Given the description of an element on the screen output the (x, y) to click on. 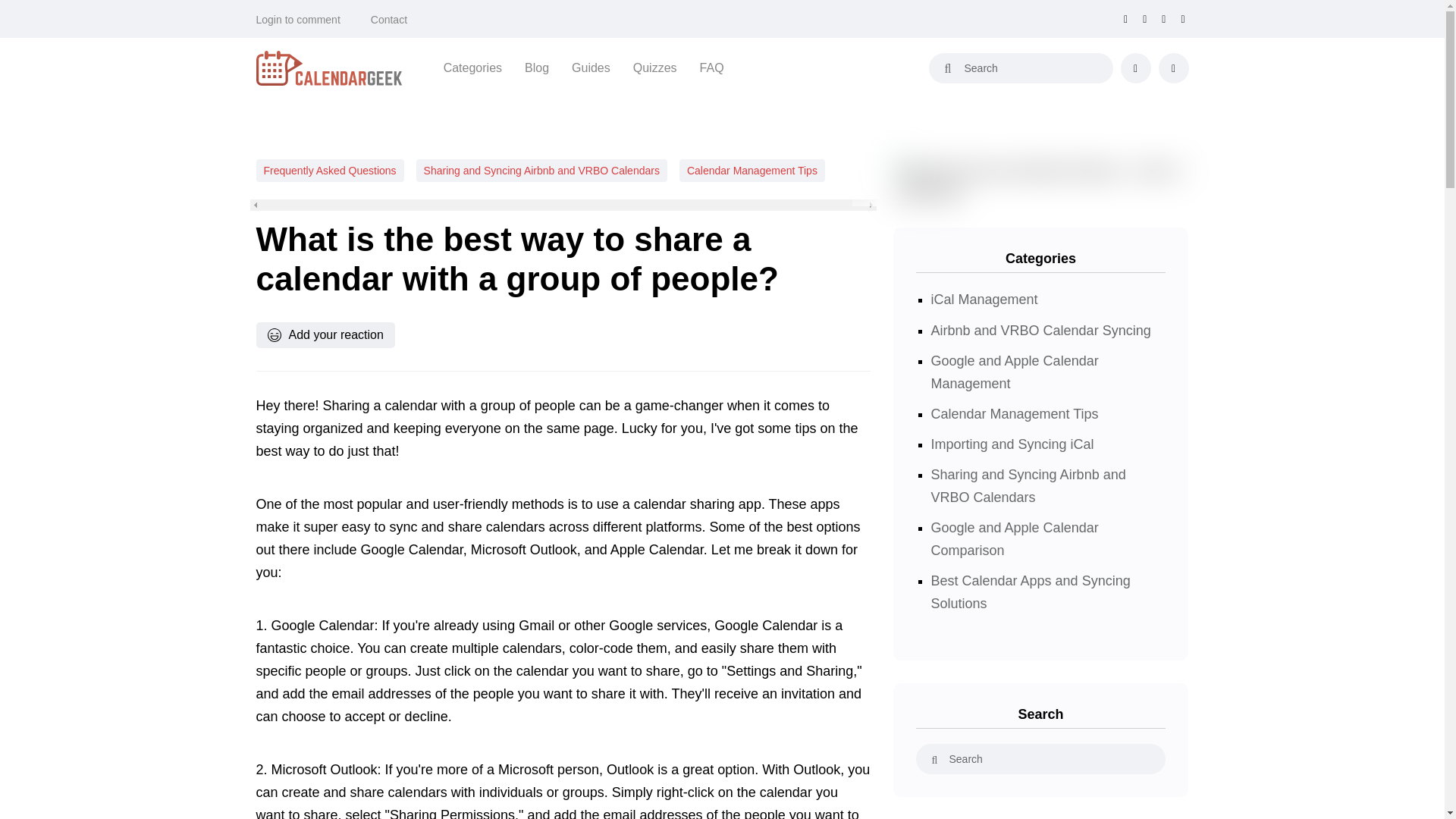
Categories (473, 67)
Login to comment (298, 19)
Contact (389, 19)
